Given the description of an element on the screen output the (x, y) to click on. 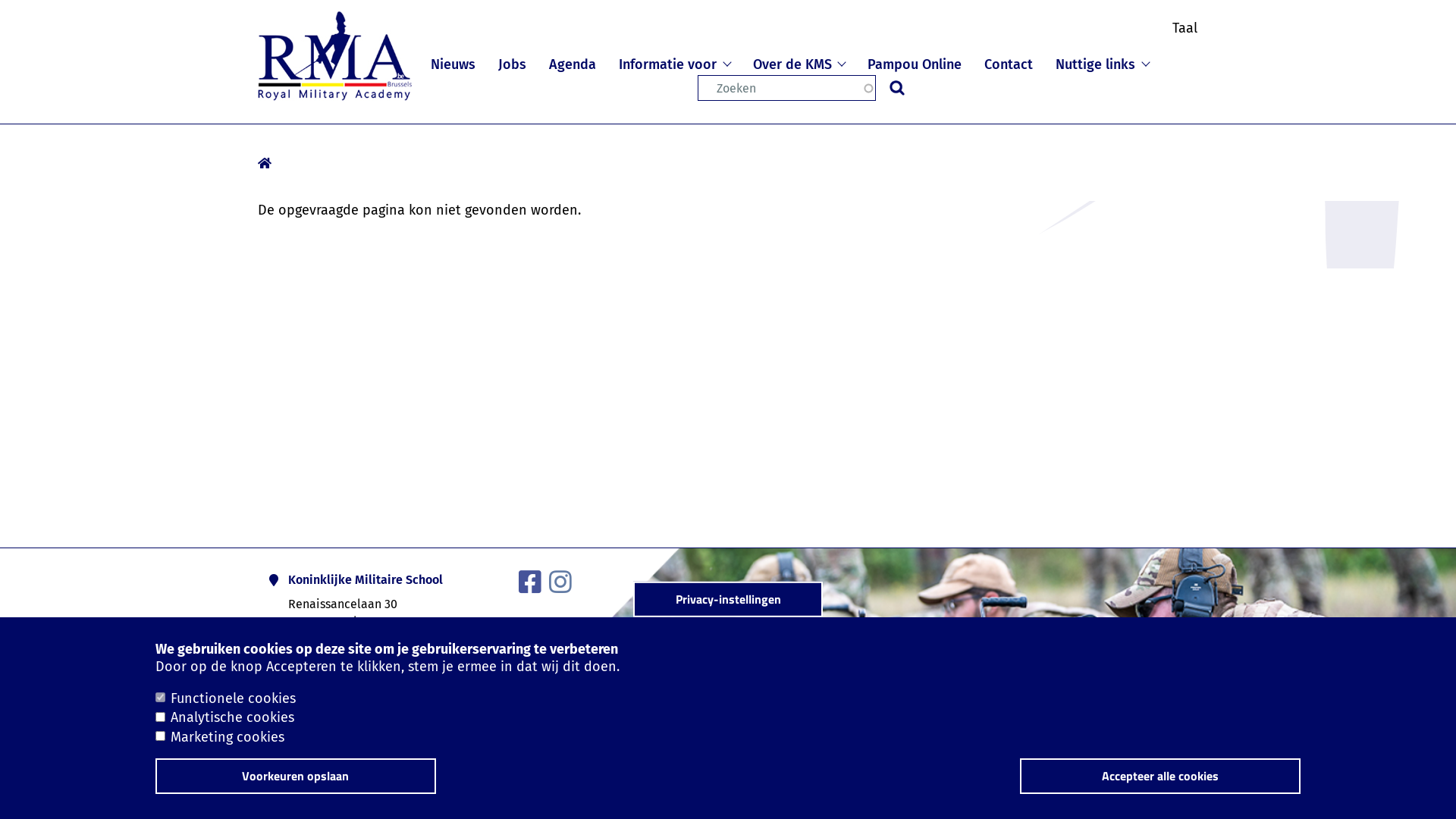
Voorkeuren opslaan Element type: text (295, 776)
Agenda Element type: text (572, 61)
Nieuws Element type: text (452, 61)
Over de KMS Element type: text (798, 61)
Zoeken Element type: text (896, 87)
Pampou Online Element type: text (914, 61)
Jobs Element type: text (511, 61)
Informatie voor Element type: text (674, 61)
Paddle CMS Platform Element type: hover (1160, 796)
Nuttige links Element type: text (1102, 61)
Ga naar de homepage Element type: hover (334, 55)
Privacy-instellingen Element type: text (727, 599)
Accepteer alle cookies Element type: text (1159, 776)
Naar de inhoud Element type: text (0, 0)
Cookieverklaring Element type: text (321, 716)
Privacyverklaring Element type: text (441, 716)
Contact Element type: text (1008, 61)
